Given the description of an element on the screen output the (x, y) to click on. 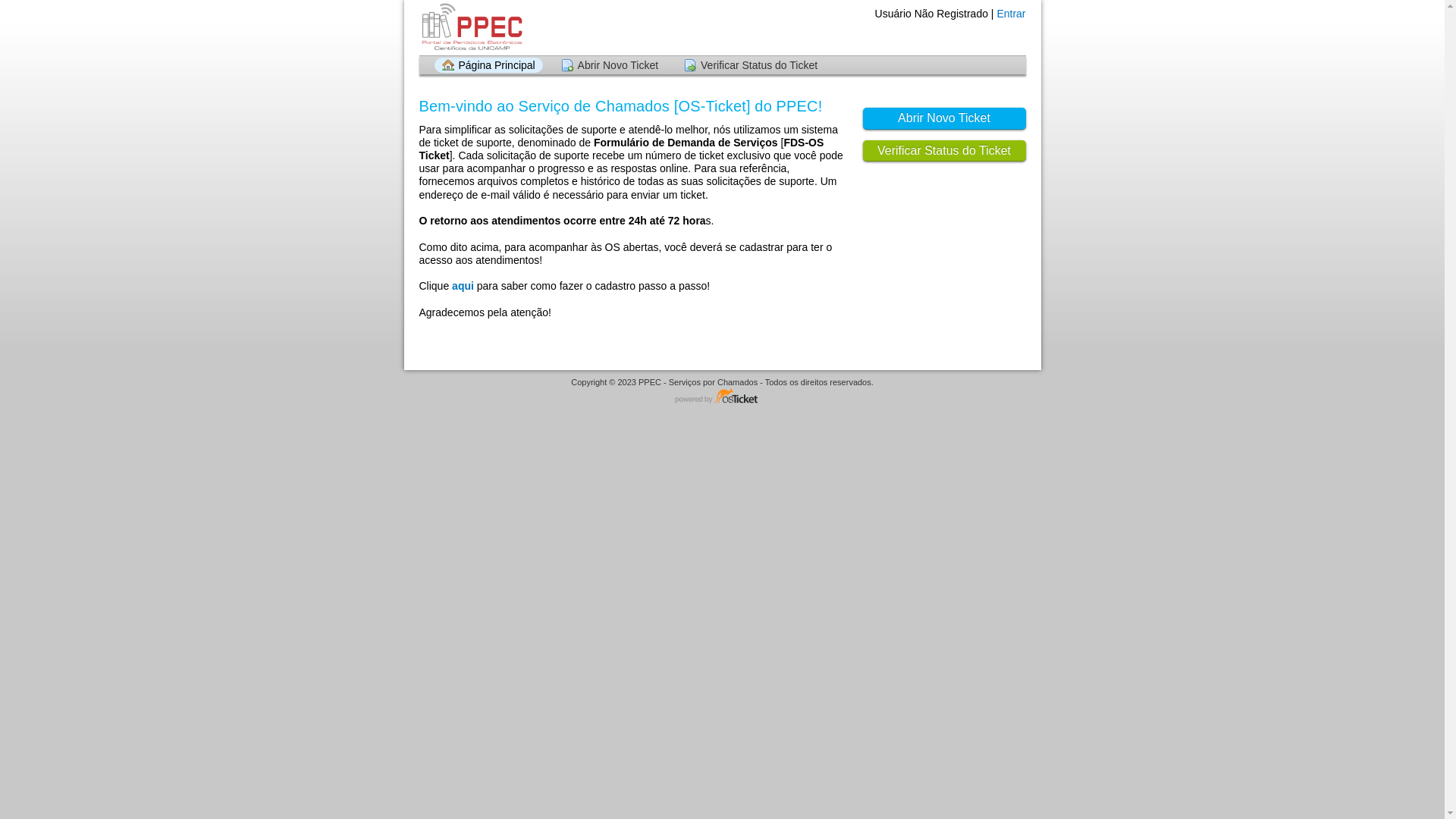
Verificar Status do Ticket Element type: text (750, 64)
Verificar Status do Ticket Element type: text (944, 151)
Entrar Element type: text (1010, 13)
Central de Suporte Element type: hover (470, 26)
Abrir Novo Ticket Element type: text (944, 118)
Software de HelpDesk - powered by osTicket Element type: text (722, 396)
Abrir Novo Ticket Element type: text (609, 64)
aqui Element type: text (462, 285)
